Given the description of an element on the screen output the (x, y) to click on. 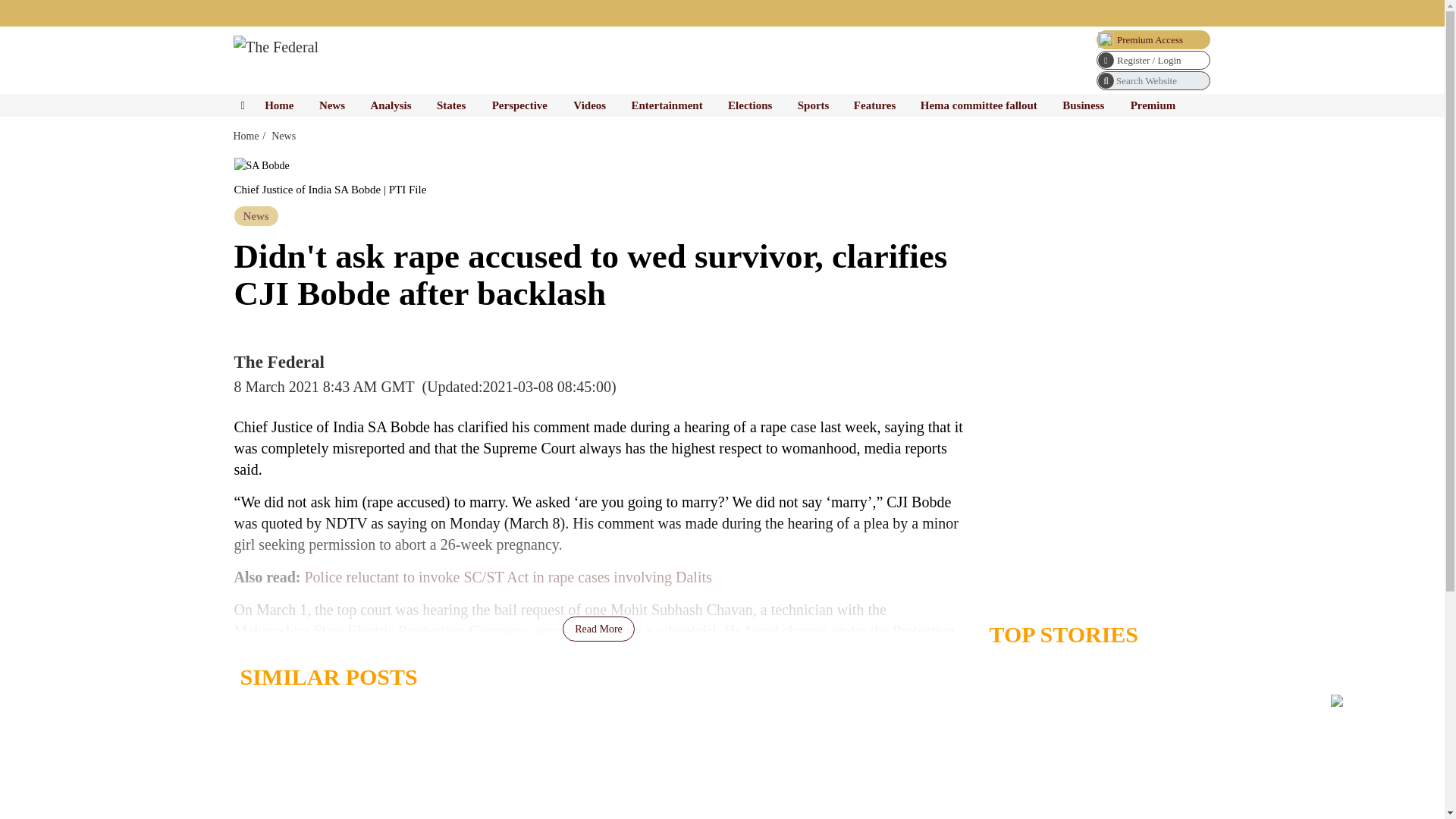
SA Bobde (260, 165)
The Federal (275, 47)
Premium Access (1152, 39)
